Given the description of an element on the screen output the (x, y) to click on. 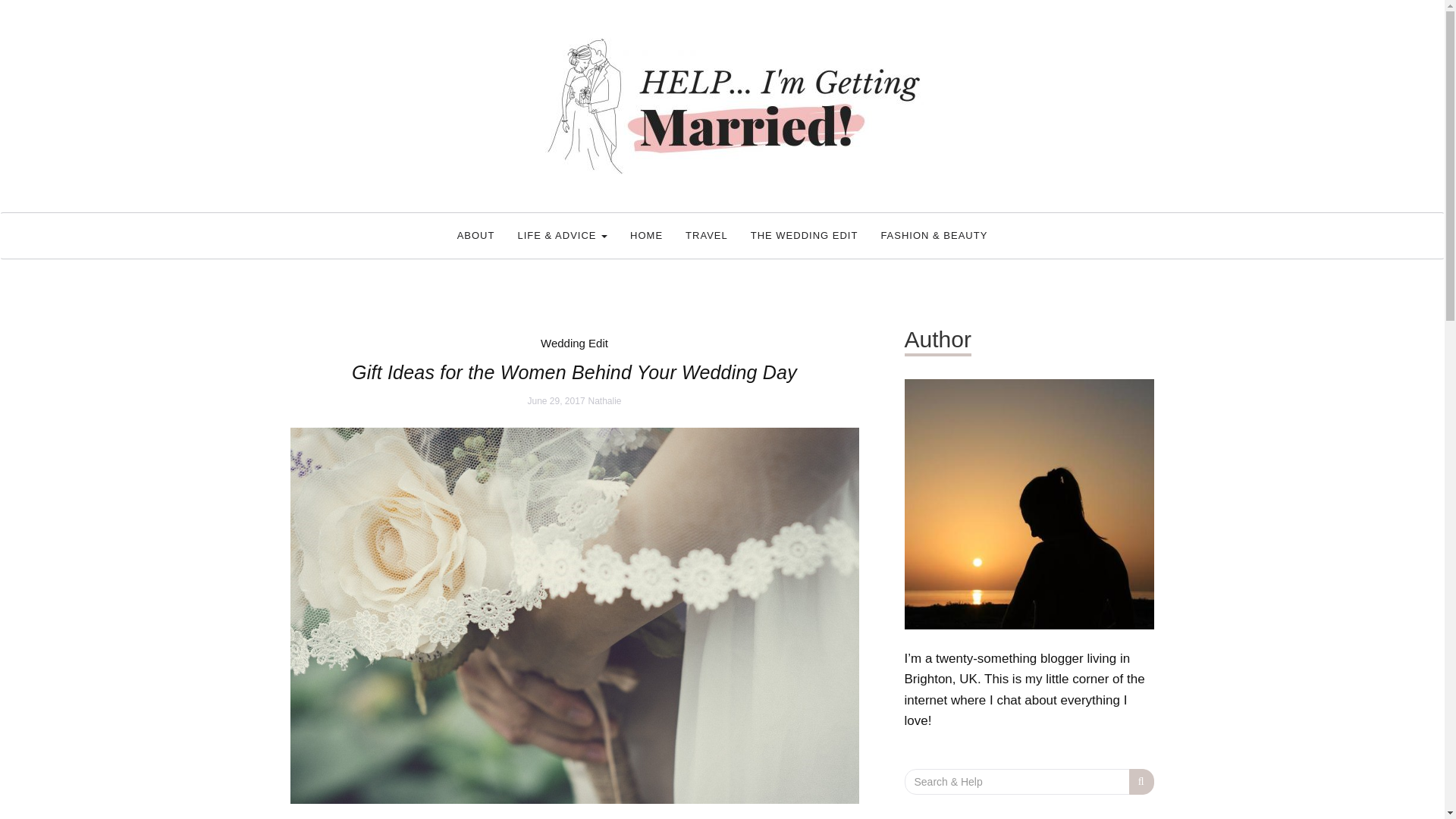
TRAVEL (706, 235)
Nathalie (604, 400)
Search for: (1016, 781)
The Wedding Edit (804, 235)
Search (1141, 781)
THE WEDDING EDIT (804, 235)
ABOUT (475, 235)
HOME (646, 235)
Posts by Nathalie (604, 400)
Home (646, 235)
Wedding Edit (574, 342)
Travel (706, 235)
About (475, 235)
